Given the description of an element on the screen output the (x, y) to click on. 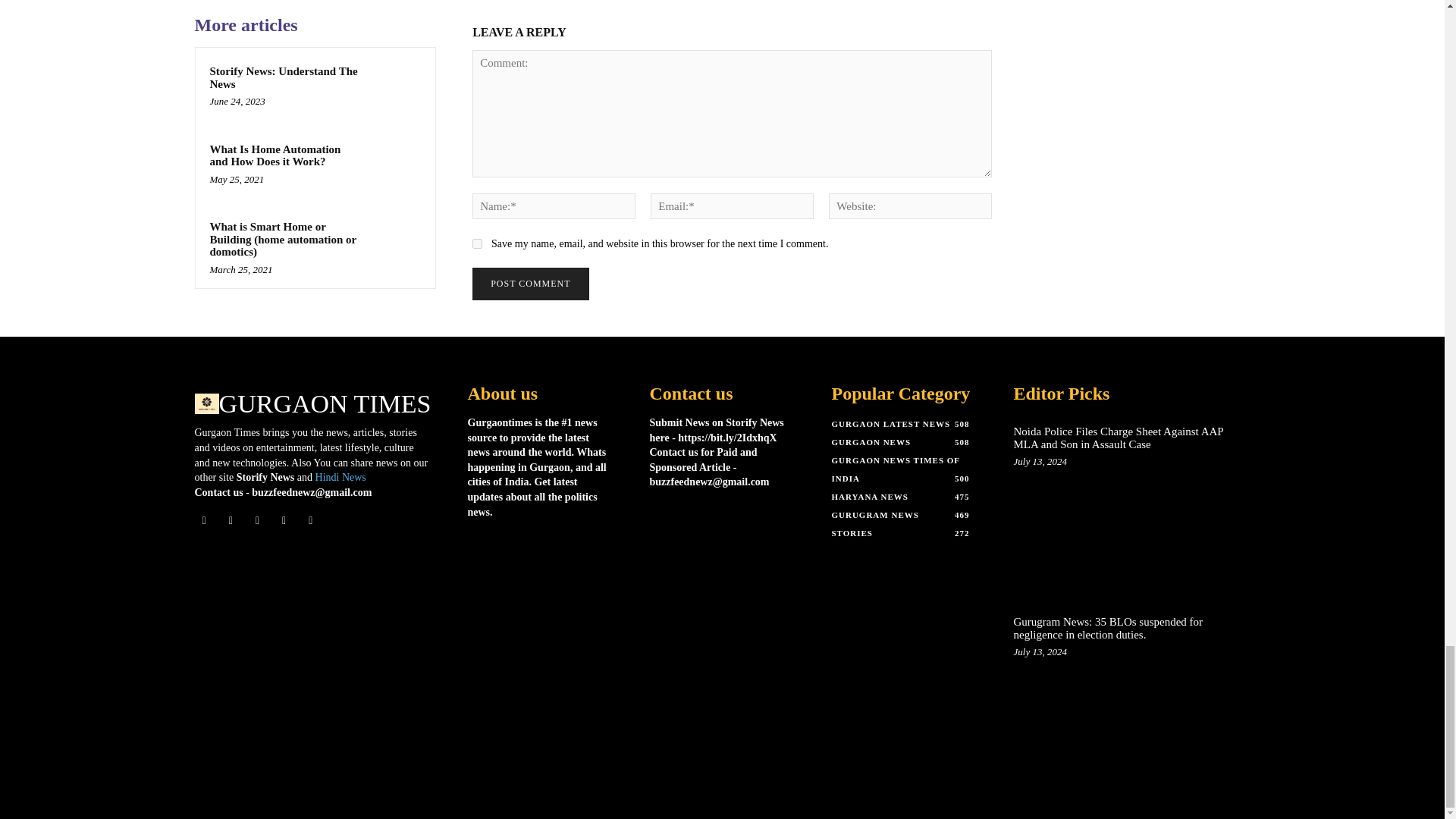
Post Comment (529, 283)
yes (476, 243)
